Given the description of an element on the screen output the (x, y) to click on. 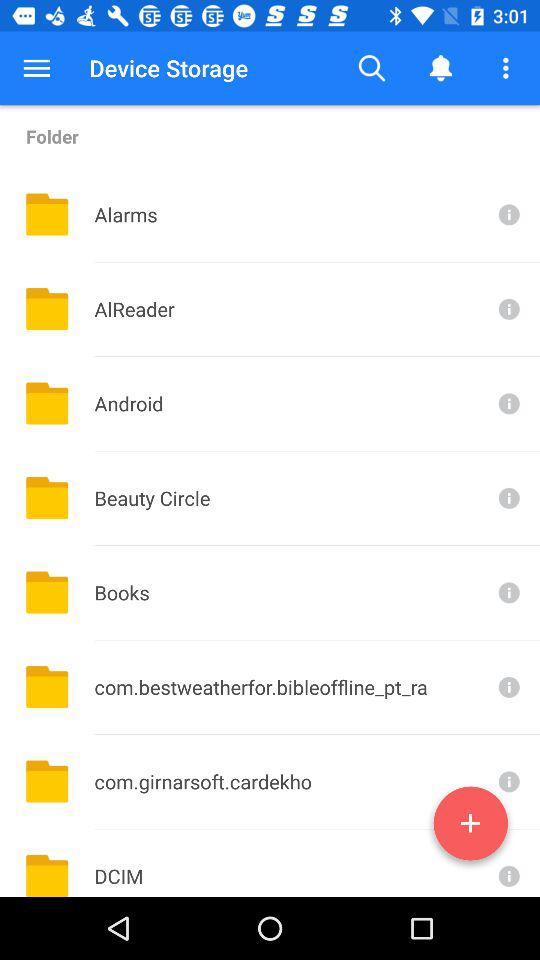
more info (507, 214)
